Given the description of an element on the screen output the (x, y) to click on. 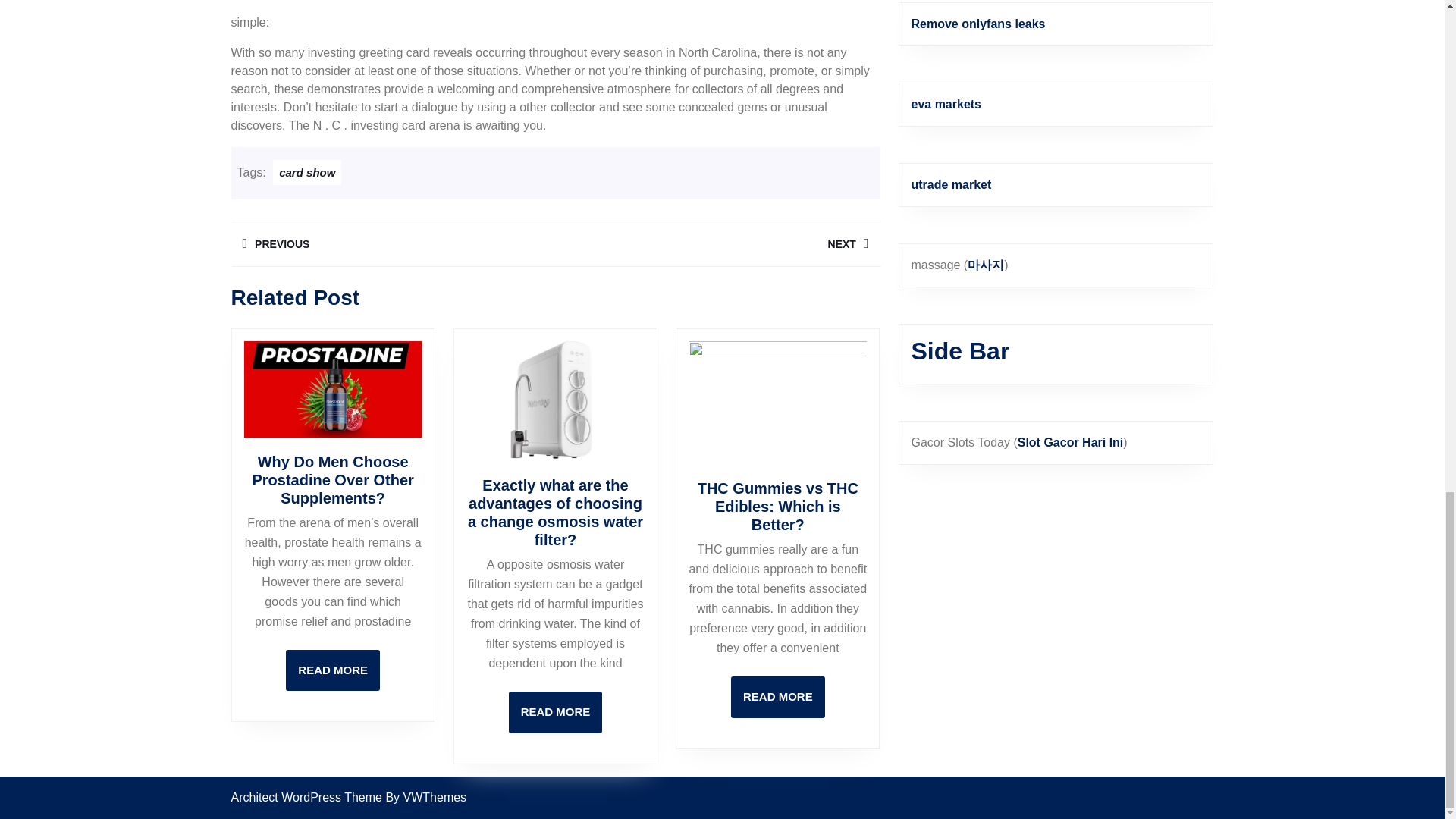
card show (306, 172)
